Given the description of an element on the screen output the (x, y) to click on. 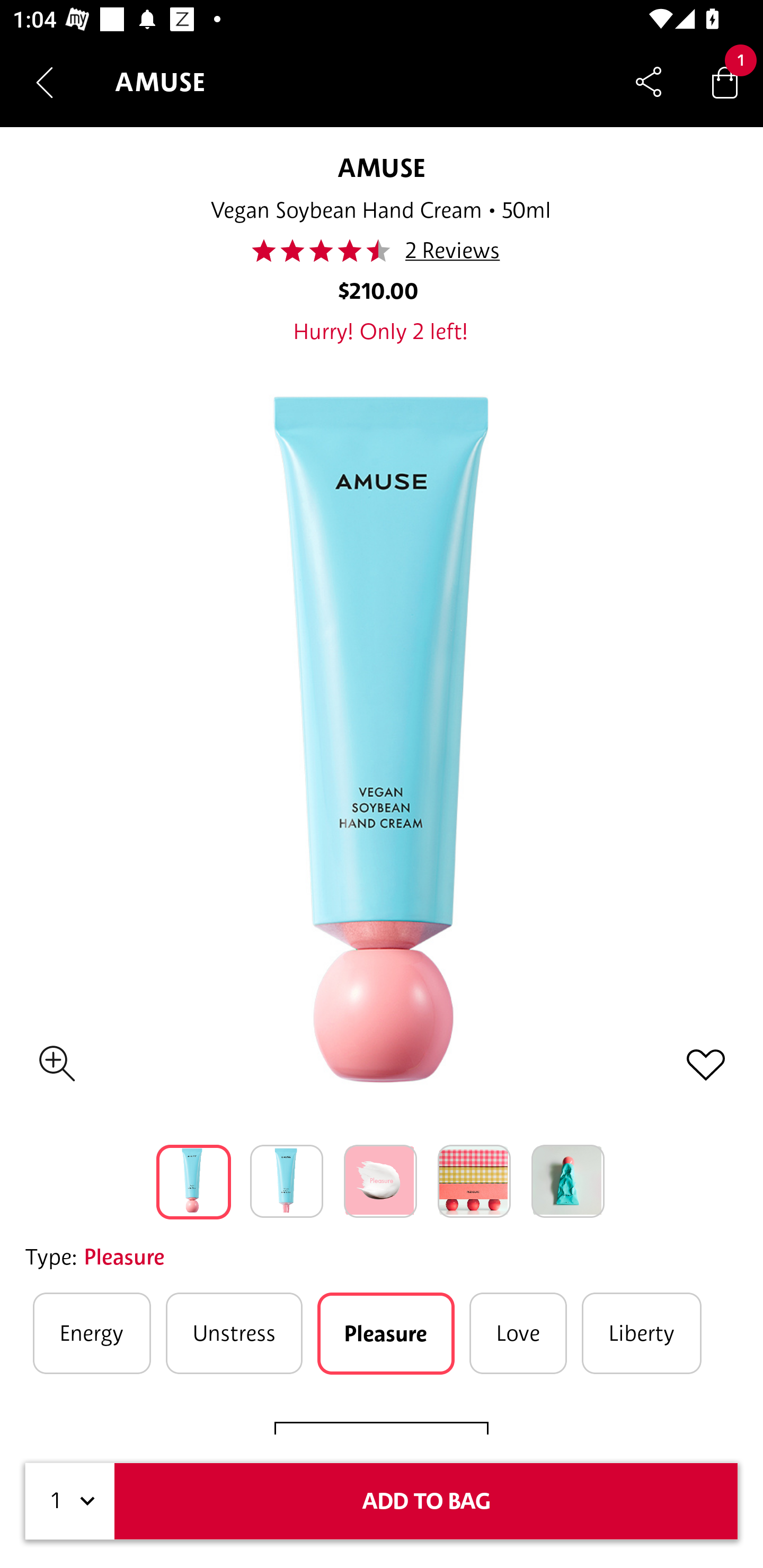
Navigate up (44, 82)
Share (648, 81)
Bag (724, 81)
AMUSE (380, 167)
45.0 2 Reviews (380, 250)
Energy (91, 1332)
Unstress (233, 1332)
Pleasure (385, 1333)
Love (517, 1332)
Liberty (641, 1332)
1 (69, 1500)
ADD TO BAG (425, 1500)
